Given the description of an element on the screen output the (x, y) to click on. 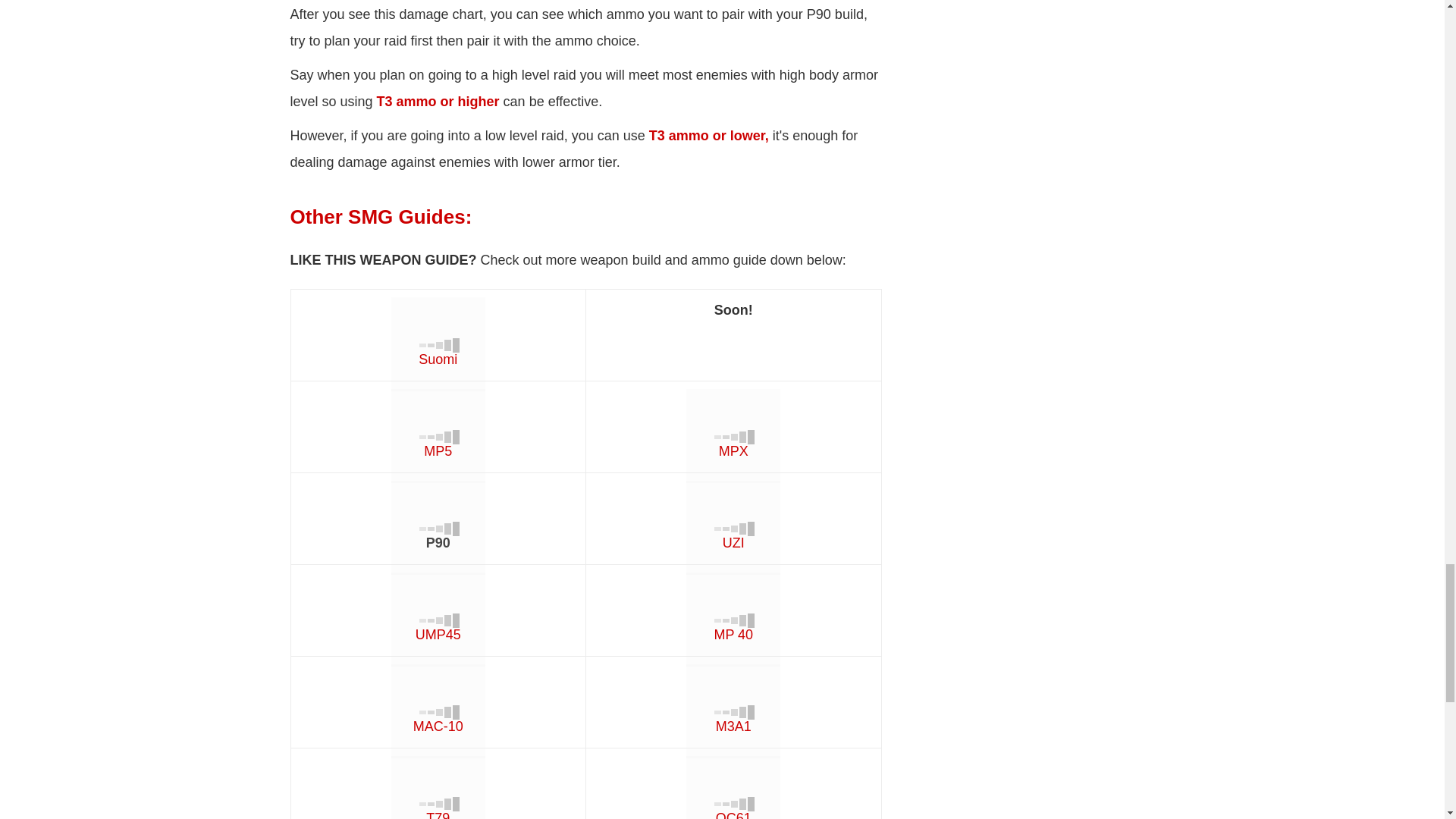
M3A1 (733, 698)
MPX (733, 423)
UMP45 (438, 607)
MP5 (438, 423)
MAC-10 (438, 698)
Suomi (437, 344)
UZI (733, 515)
Suomi (438, 331)
MP 40 (733, 607)
T79 (438, 787)
